Given the description of an element on the screen output the (x, y) to click on. 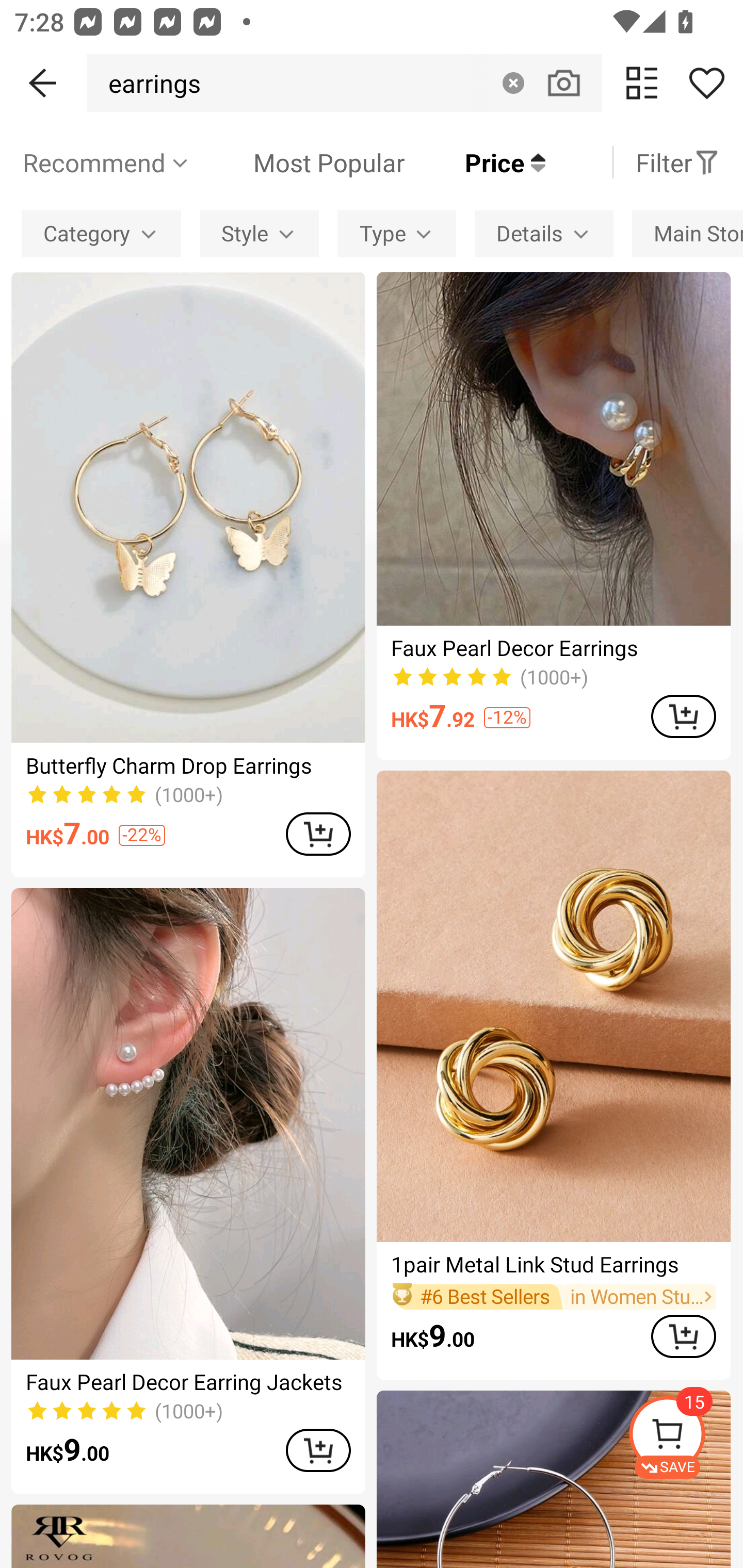
earrings Clear (343, 82)
earrings (148, 82)
Clear (513, 82)
change view (641, 82)
Share (706, 82)
Recommend (106, 162)
Most Popular (297, 162)
Price (474, 162)
Filter (677, 162)
Category (101, 233)
Style (258, 233)
Type (396, 233)
Details (543, 233)
Main Stone (687, 233)
ADD TO CART (683, 716)
ADD TO CART (318, 834)
#6 Best Sellers in Women Stud Earrings (553, 1296)
ADD TO CART (683, 1335)
SAVE (685, 1436)
ADD TO CART (318, 1450)
